Given the description of an element on the screen output the (x, y) to click on. 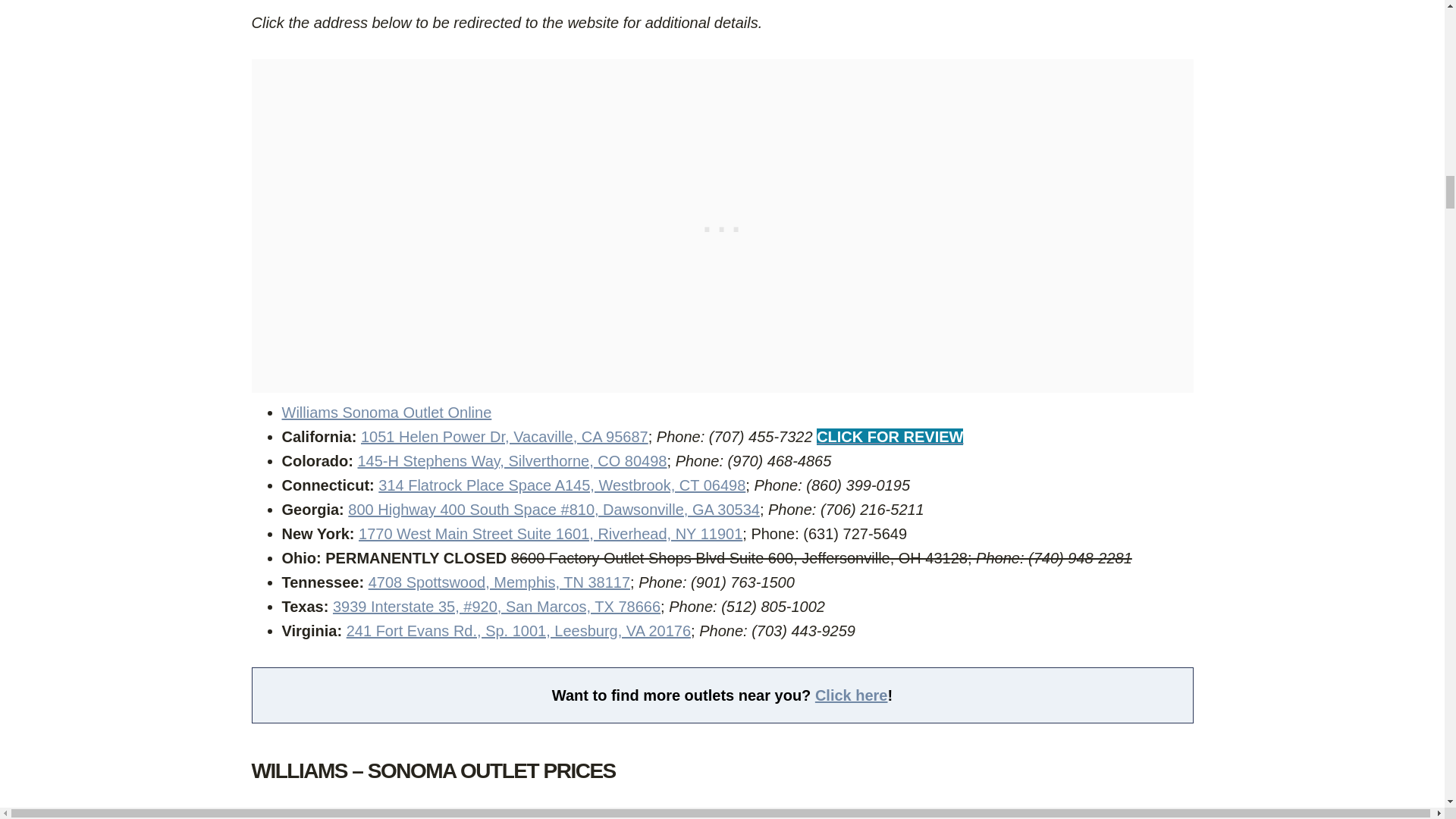
Williams Sonoma Outlet Online (387, 412)
1051 Helen Power Dr, Vacaville, CA 95687 (504, 436)
